Given the description of an element on the screen output the (x, y) to click on. 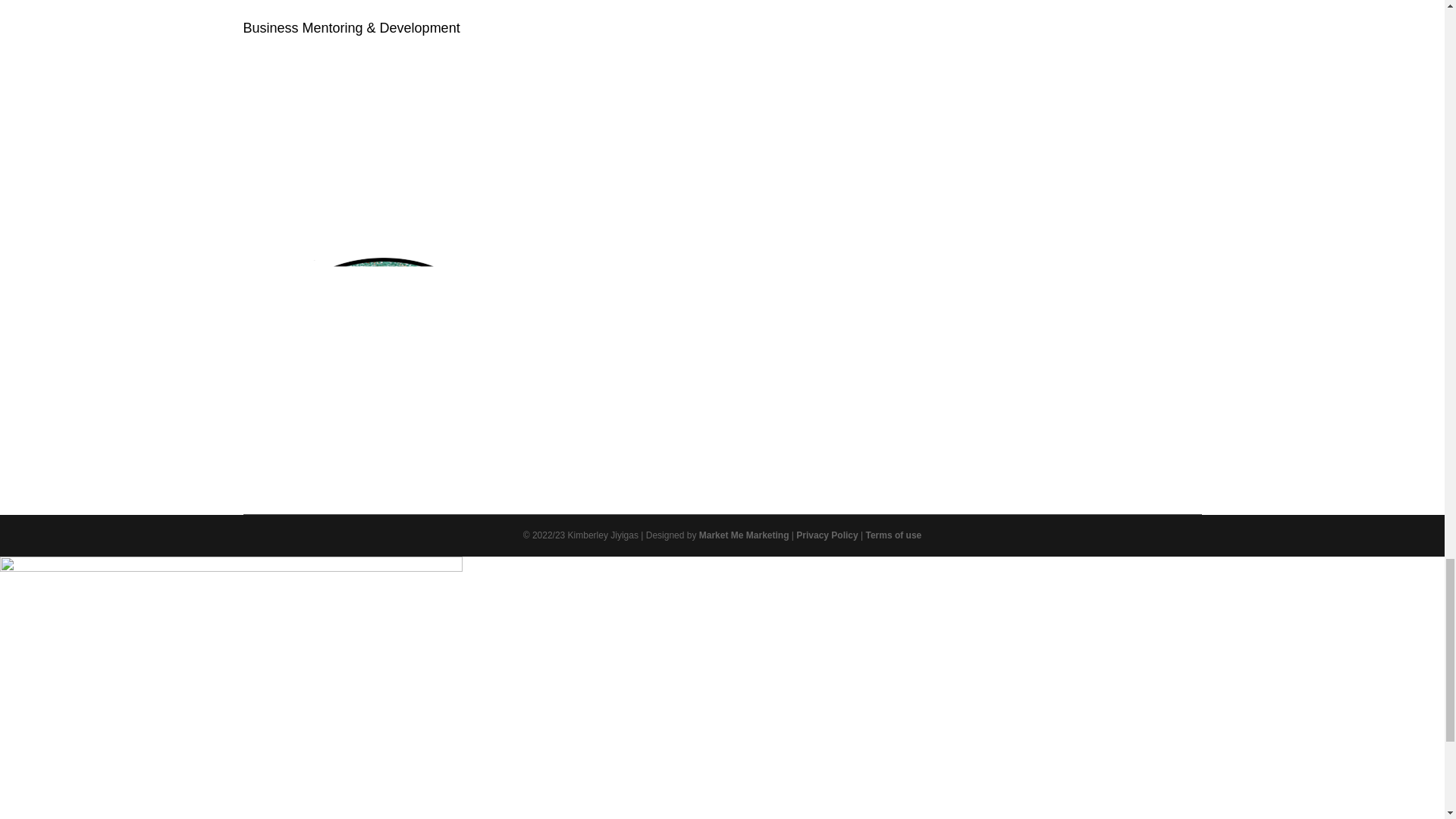
Kimberley Jiyigas Logo 2020 (385, 372)
Follow on Instagram (756, 428)
Privacy Policy (826, 534)
Terms of use (892, 534)
Follow on Youtube (725, 428)
Market Me Marketing (743, 534)
Follow on LinkedIn (785, 428)
Follow on Facebook (694, 428)
